Given the description of an element on the screen output the (x, y) to click on. 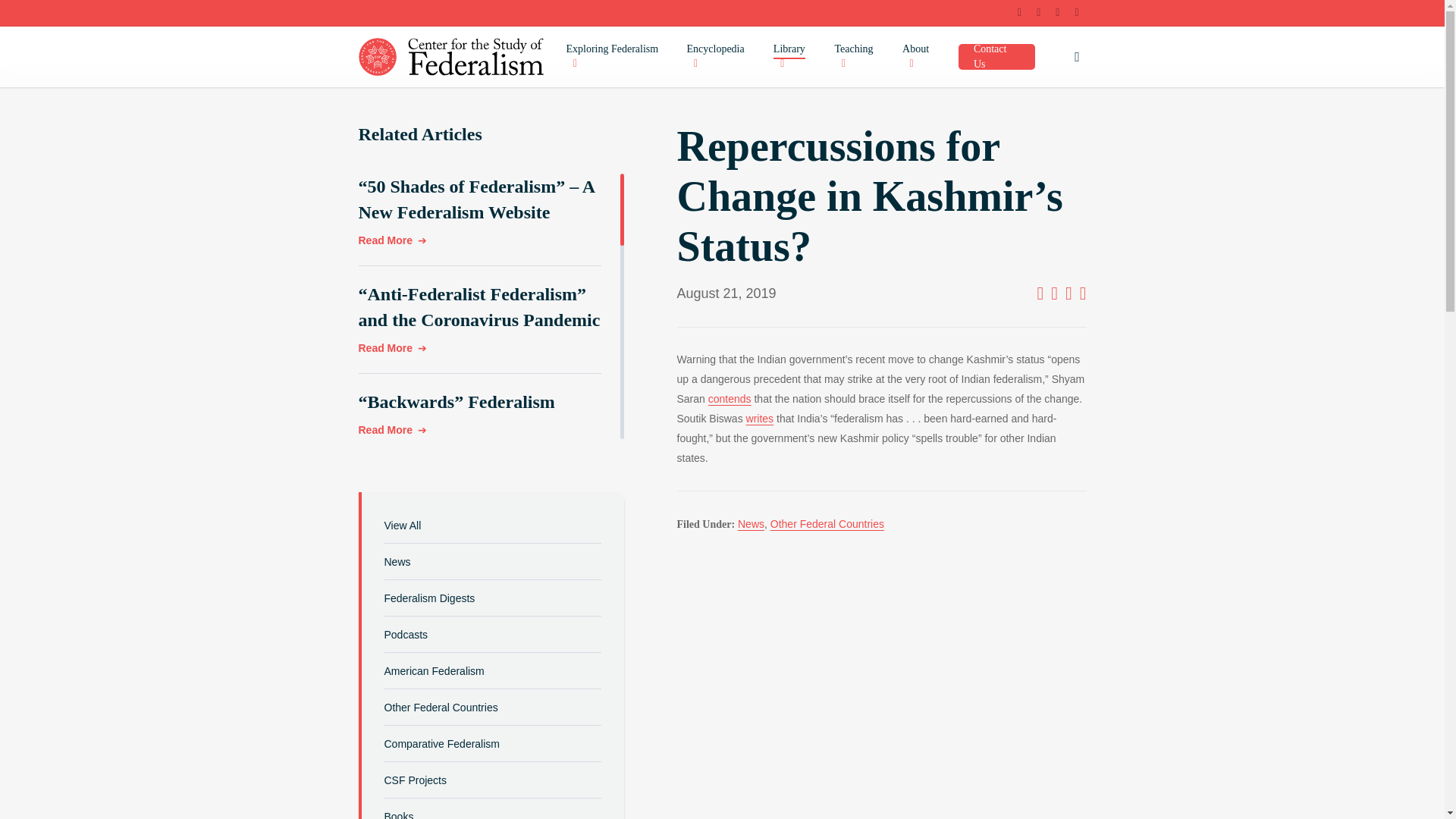
Encyclopedia (722, 56)
Exploring Federalism (618, 56)
Library (796, 56)
